Given the description of an element on the screen output the (x, y) to click on. 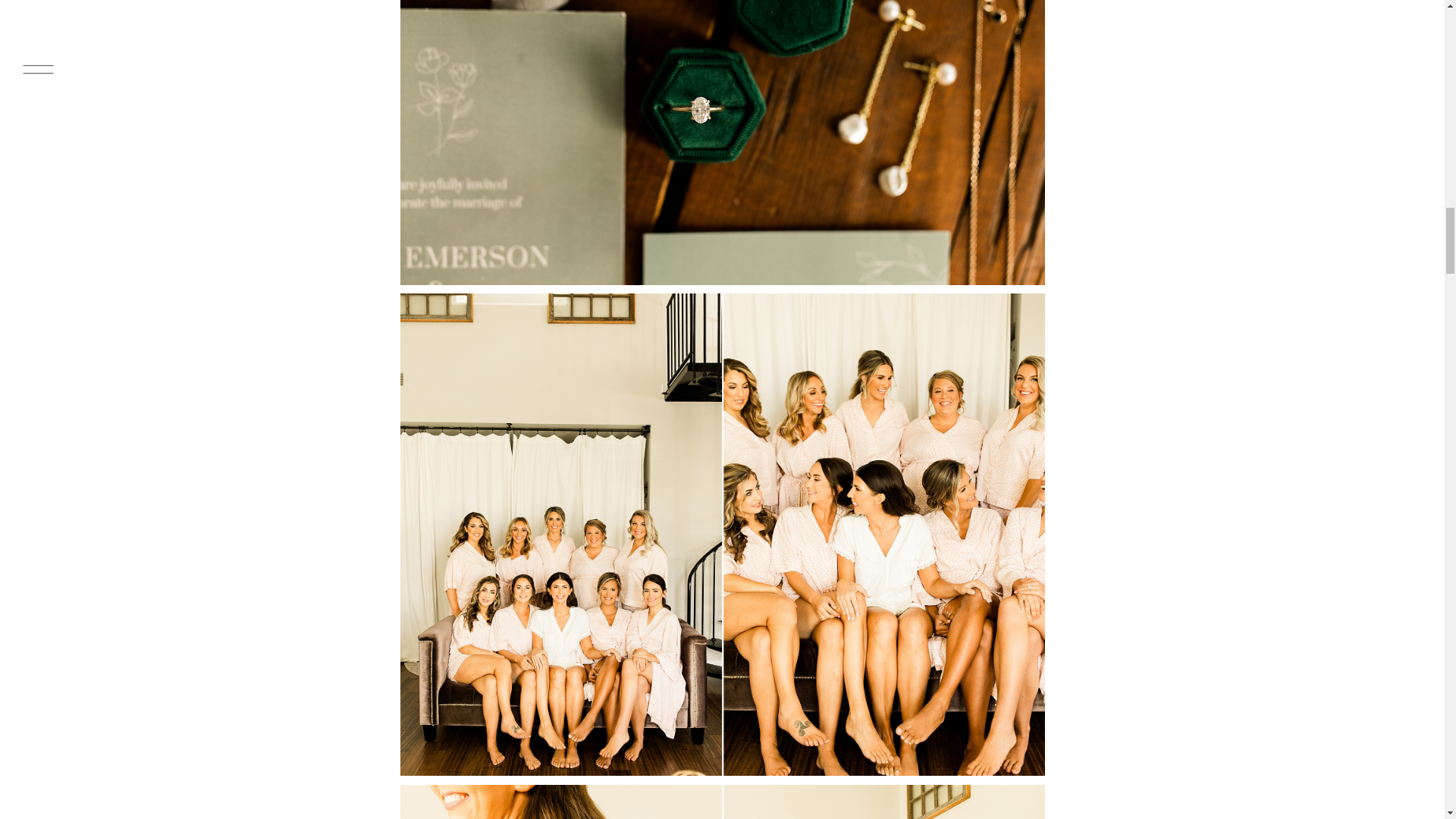
Palladium Wedding Photos (722, 801)
